Given the description of an element on the screen output the (x, y) to click on. 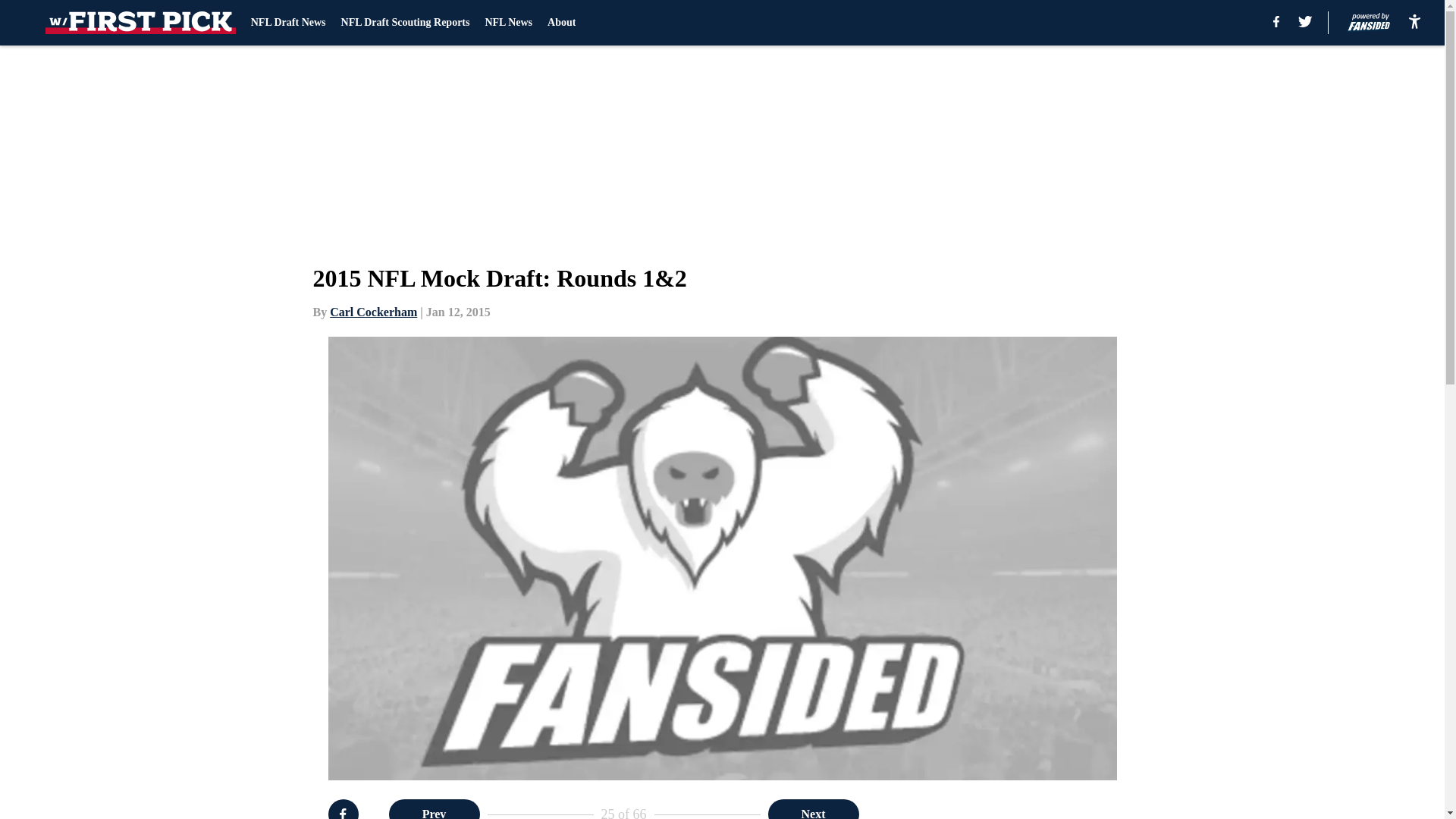
NFL Draft News (288, 22)
NFL News (508, 22)
Carl Cockerham (373, 311)
NFL Draft Scouting Reports (405, 22)
Prev (433, 809)
About (561, 22)
Next (813, 809)
